Given the description of an element on the screen output the (x, y) to click on. 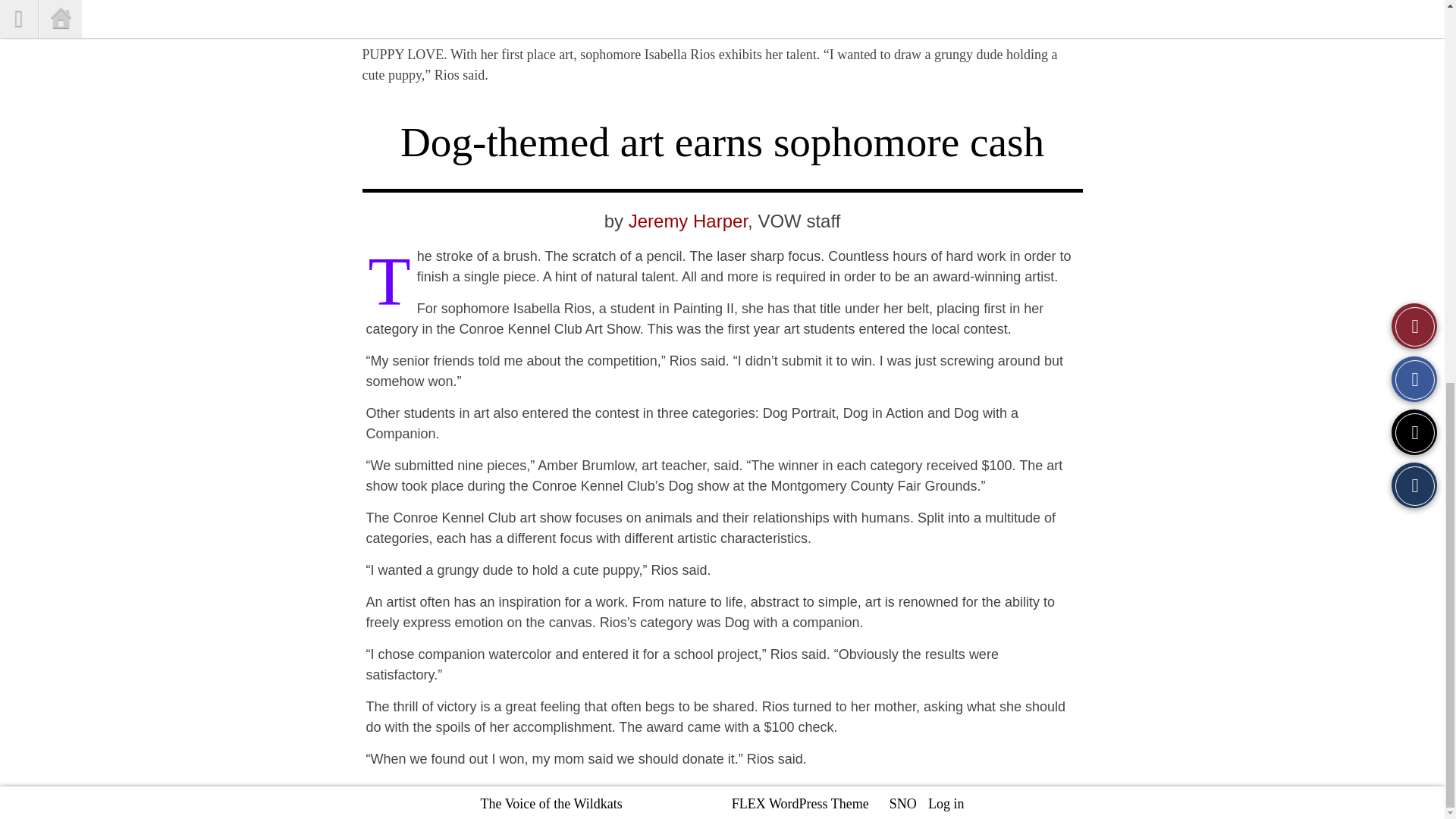
FLEX WordPress Theme (800, 87)
Piper Neumann (1054, 32)
The Voice of the Wildkats (550, 87)
SNO (903, 87)
Jeremy Harper (688, 220)
Log in (945, 87)
